Given the description of an element on the screen output the (x, y) to click on. 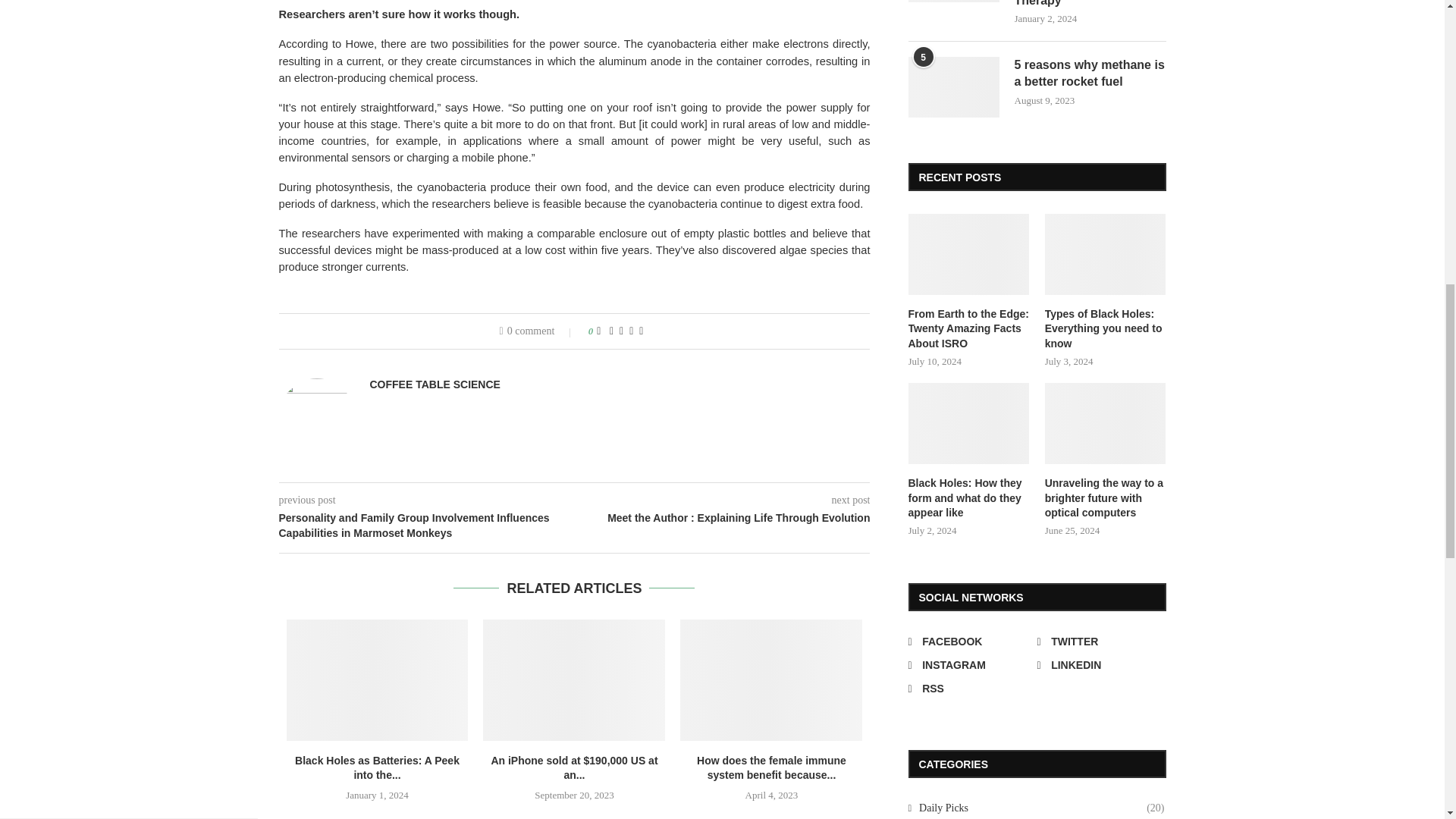
Author Coffee Table Science (434, 384)
Black Holes as Batteries: A Peek into the Distant Future (377, 680)
